Given the description of an element on the screen output the (x, y) to click on. 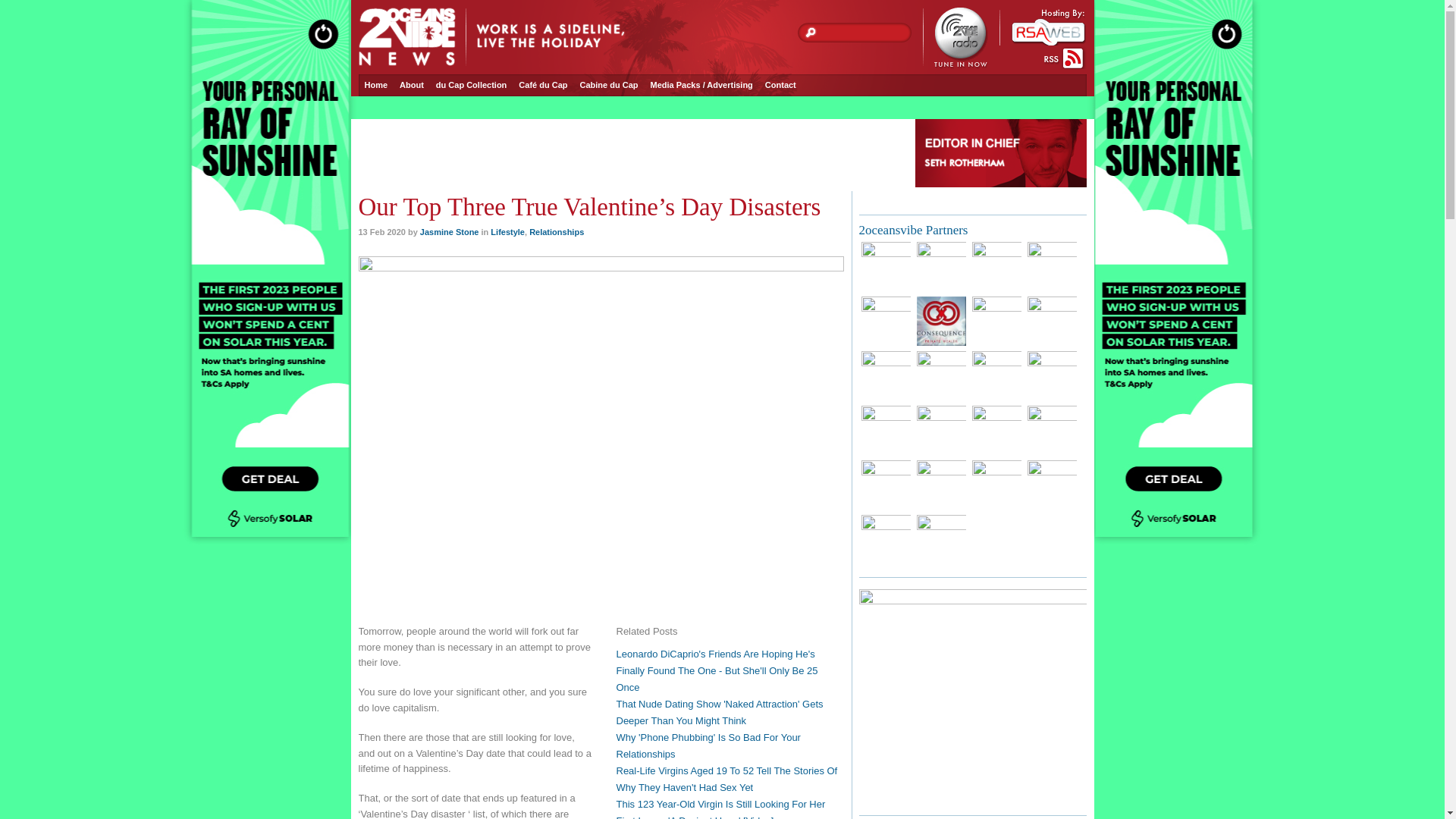
Home Element type: text (375, 85)
Why 'Phone Phubbing' Is So Bad For Your Relationships Element type: text (707, 745)
Search Element type: text (807, 32)
Jasmine Stone Element type: text (449, 231)
rss Element type: text (1064, 59)
Sponsored by RSAWeb Element type: text (1042, 26)
About Element type: text (411, 85)
Lifestyle Element type: text (507, 231)
Contact Element type: text (780, 85)
Relationships Element type: text (556, 231)
Media Packs / Advertising Element type: text (701, 85)
Cabine du Cap Element type: text (609, 85)
du Cap Collection Element type: text (471, 85)
2ov Radio Element type: text (954, 38)
